Given the description of an element on the screen output the (x, y) to click on. 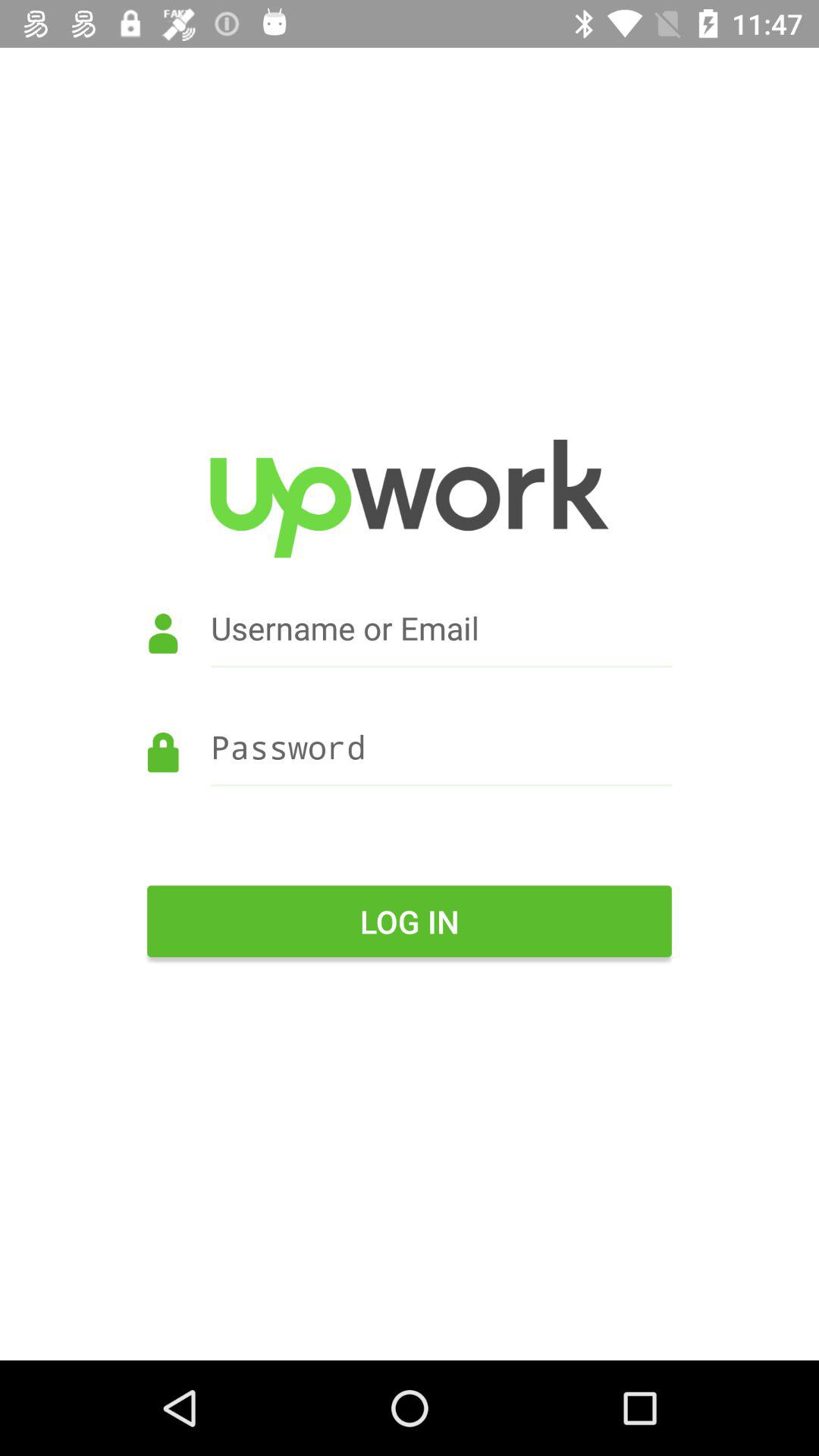
tap the item above the log in (409, 768)
